Given the description of an element on the screen output the (x, y) to click on. 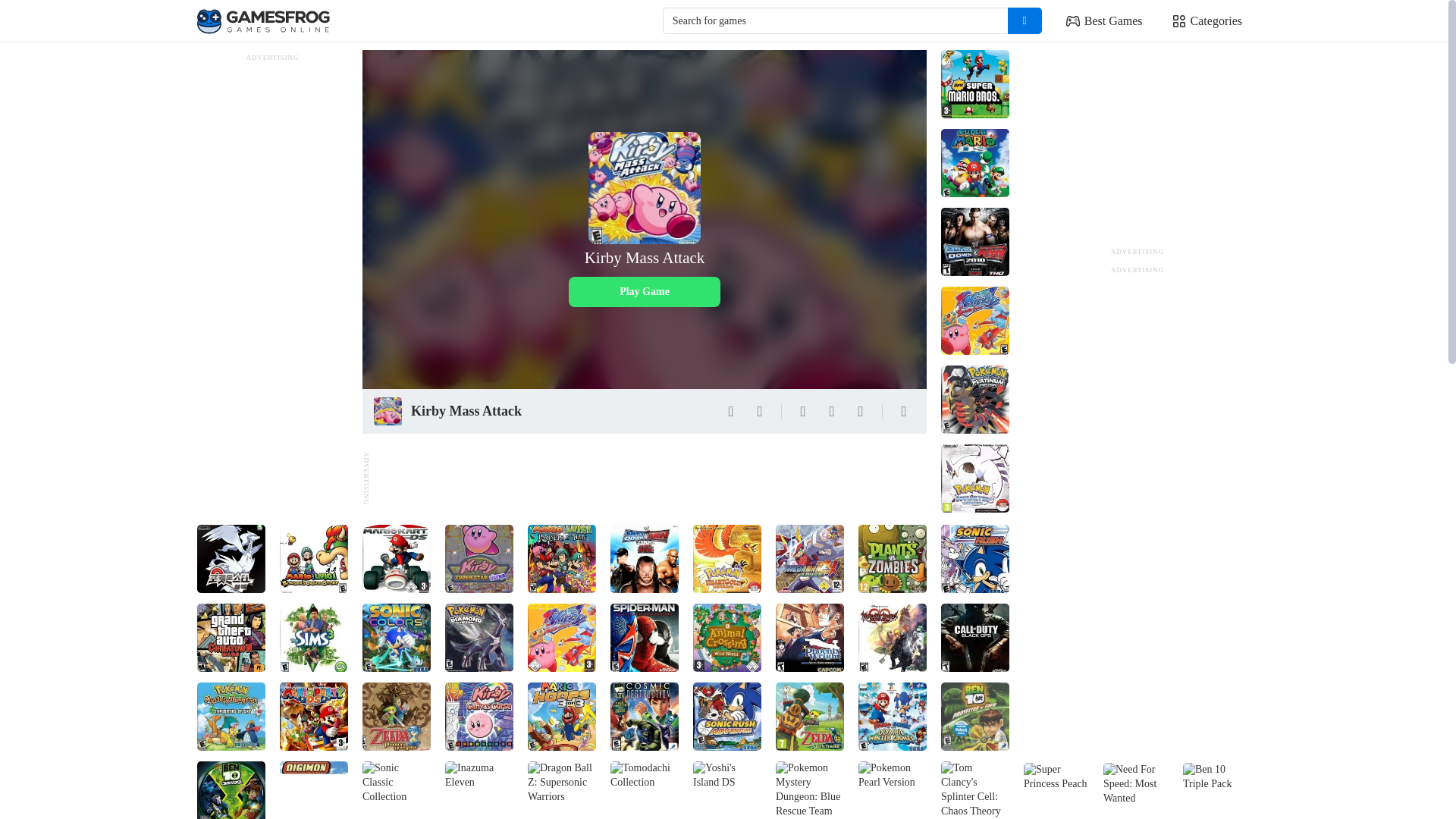
Best Games (1104, 21)
Megaman ZX Advent (810, 558)
Pokemon Platinum Version (974, 399)
Plants VS Zombies (892, 558)
Pokemon HeartGold Version (727, 558)
Sonic Colors (396, 637)
Play Game (644, 291)
GamesFrog - Games Online (263, 21)
Kirby Squeak Squad (974, 320)
Categories (1206, 21)
